Given the description of an element on the screen output the (x, y) to click on. 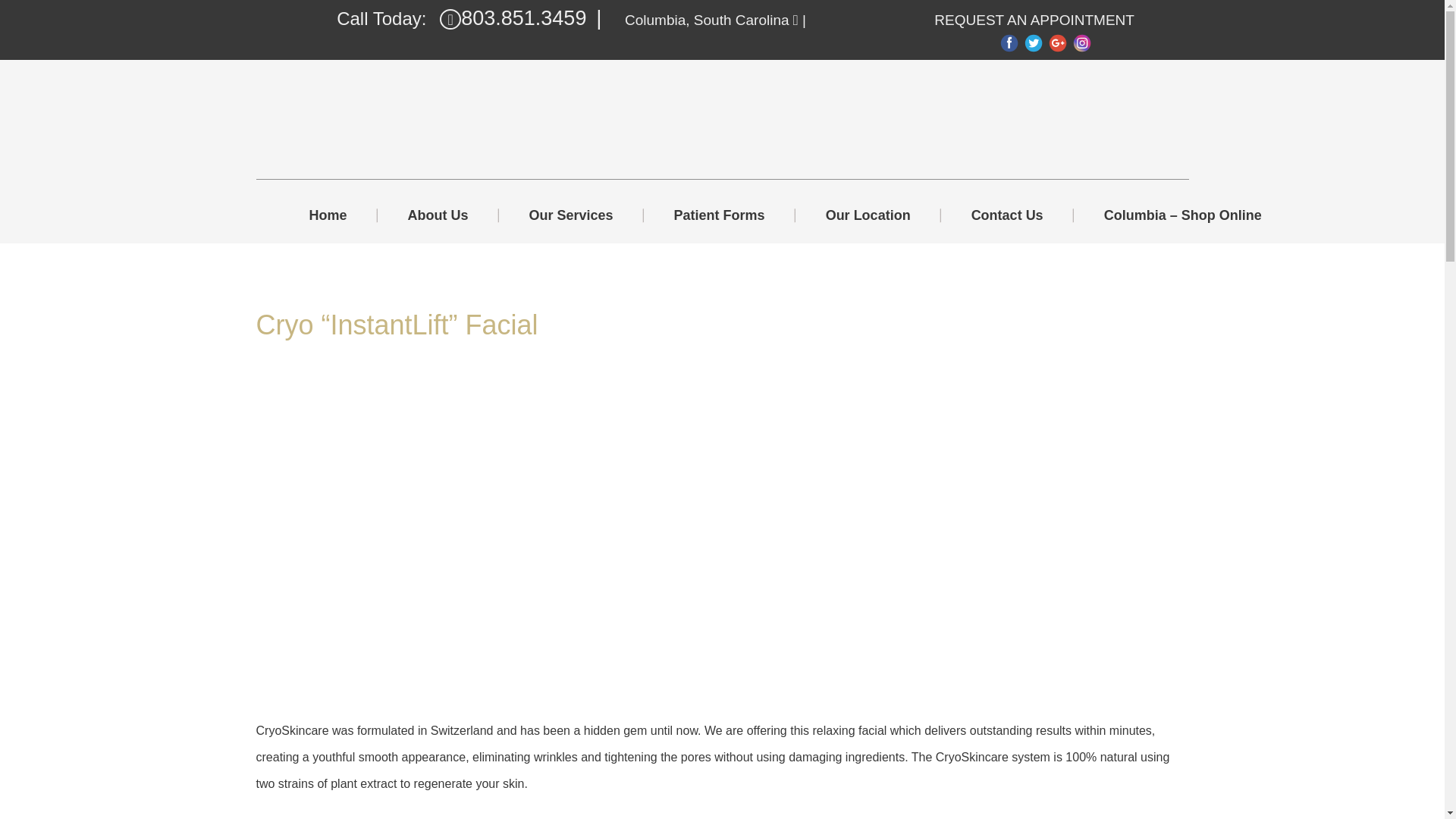
REQUEST AN APPOINTMENT (1034, 19)
Our Services (571, 214)
Patient Forms (718, 214)
Columbia, South Carolina (706, 19)
About Us (438, 214)
803.851.3459 (512, 18)
Contact Us (1007, 214)
Our Location (867, 214)
Home (342, 214)
